Given the description of an element on the screen output the (x, y) to click on. 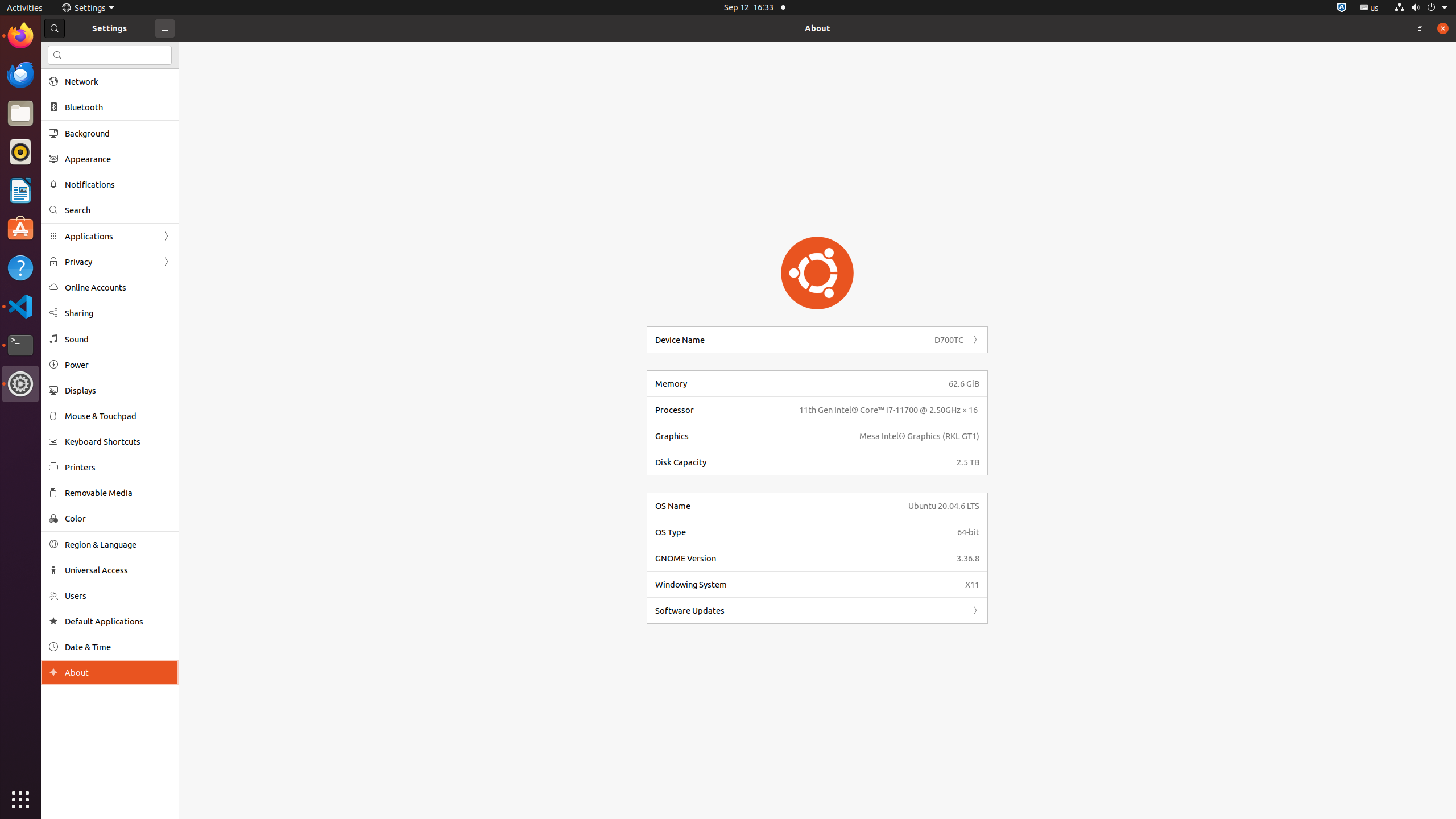
11th Gen Intel® Core™ i7-11700 @ 2.50GHz × 16  Element type: label (889, 409)
Activities Element type: label (24, 7)
Processor Element type: label (723, 409)
Forward Element type: icon (974, 609)
